Given the description of an element on the screen output the (x, y) to click on. 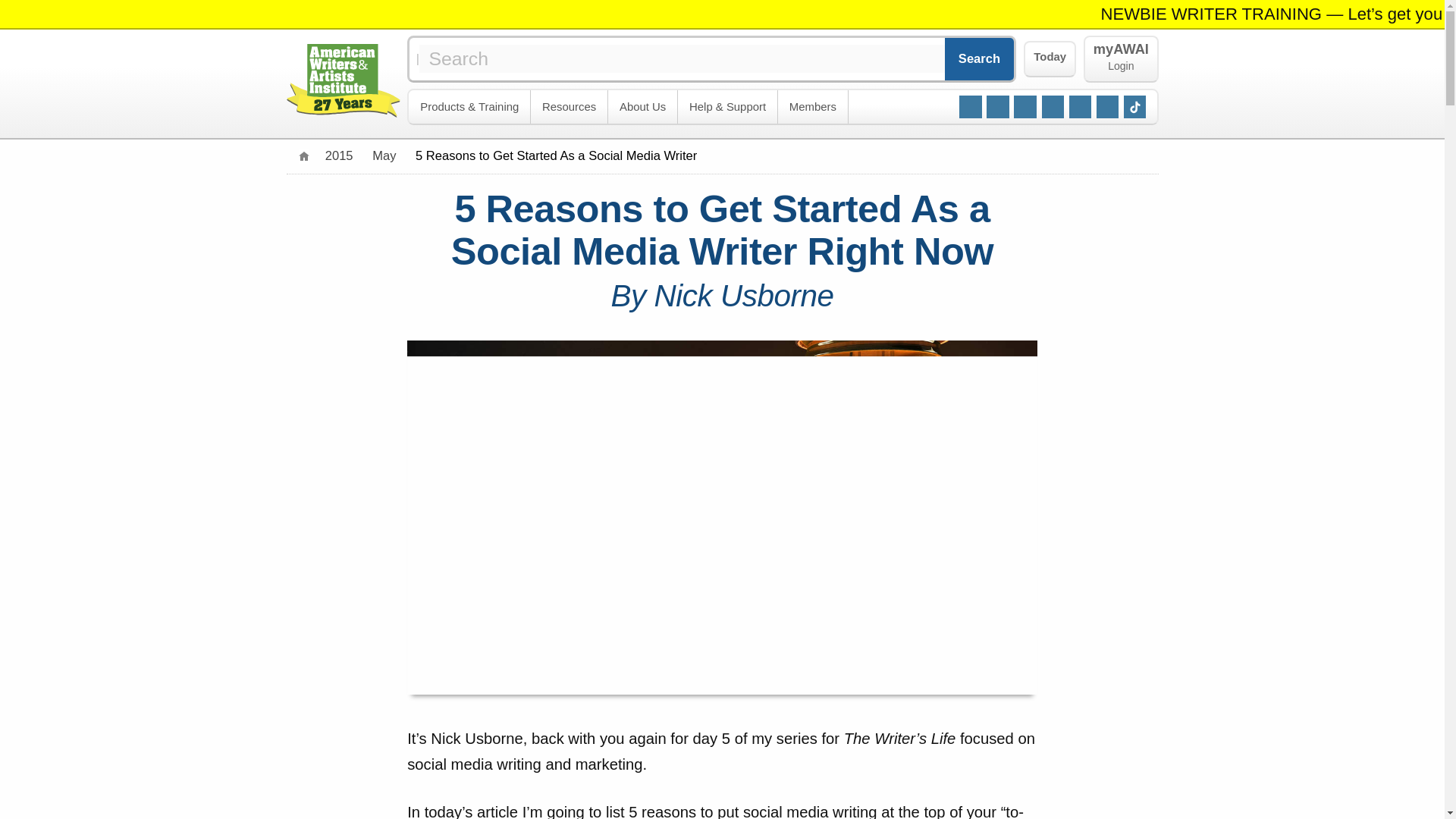
Search (979, 58)
Members (812, 107)
About Us (643, 107)
Today (1049, 58)
Resources (569, 107)
